Given the description of an element on the screen output the (x, y) to click on. 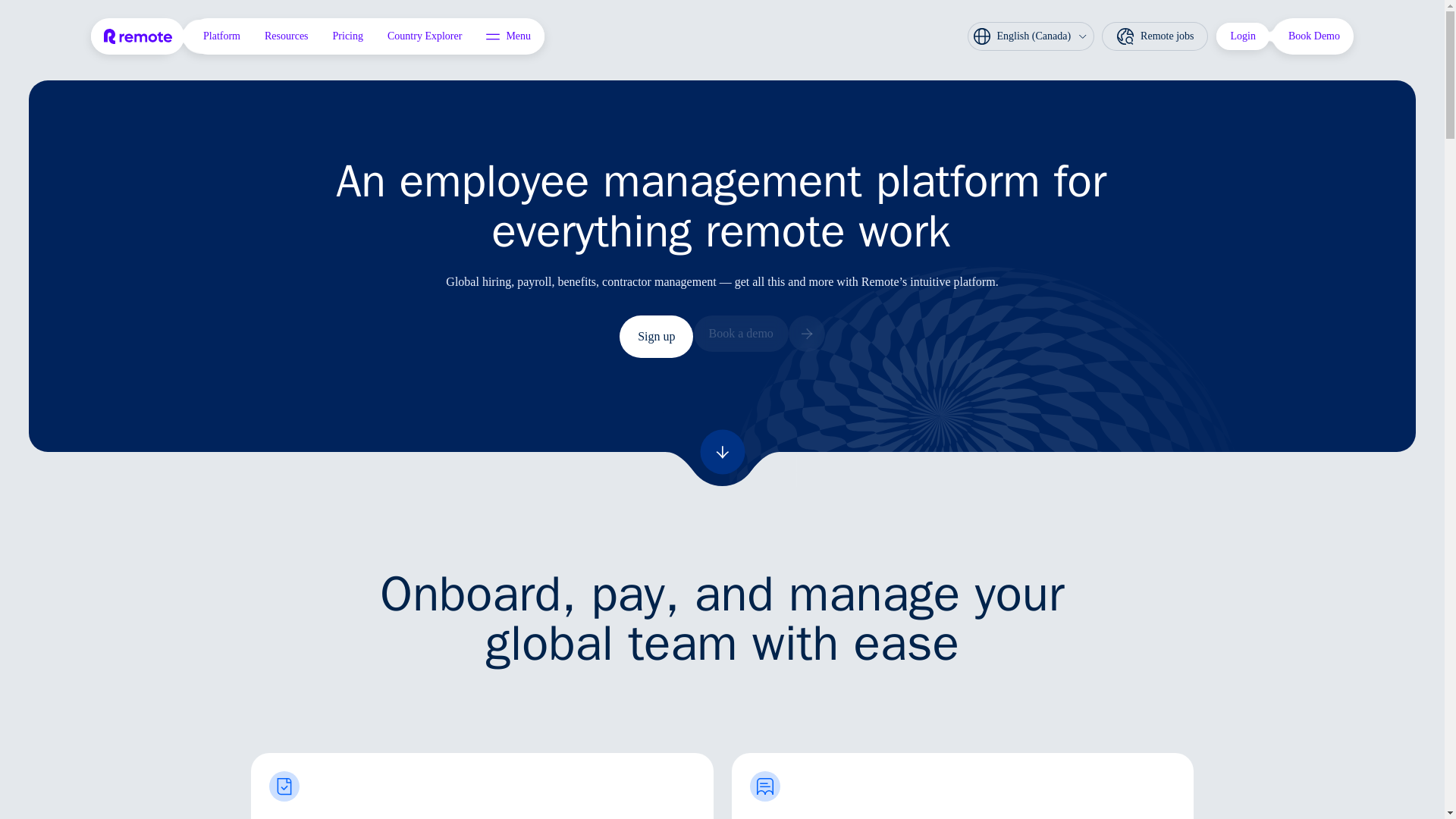
Hire Contractors (961, 785)
Skip to Content (102, 29)
Hire Employees (481, 785)
Platform (220, 36)
